Given the description of an element on the screen output the (x, y) to click on. 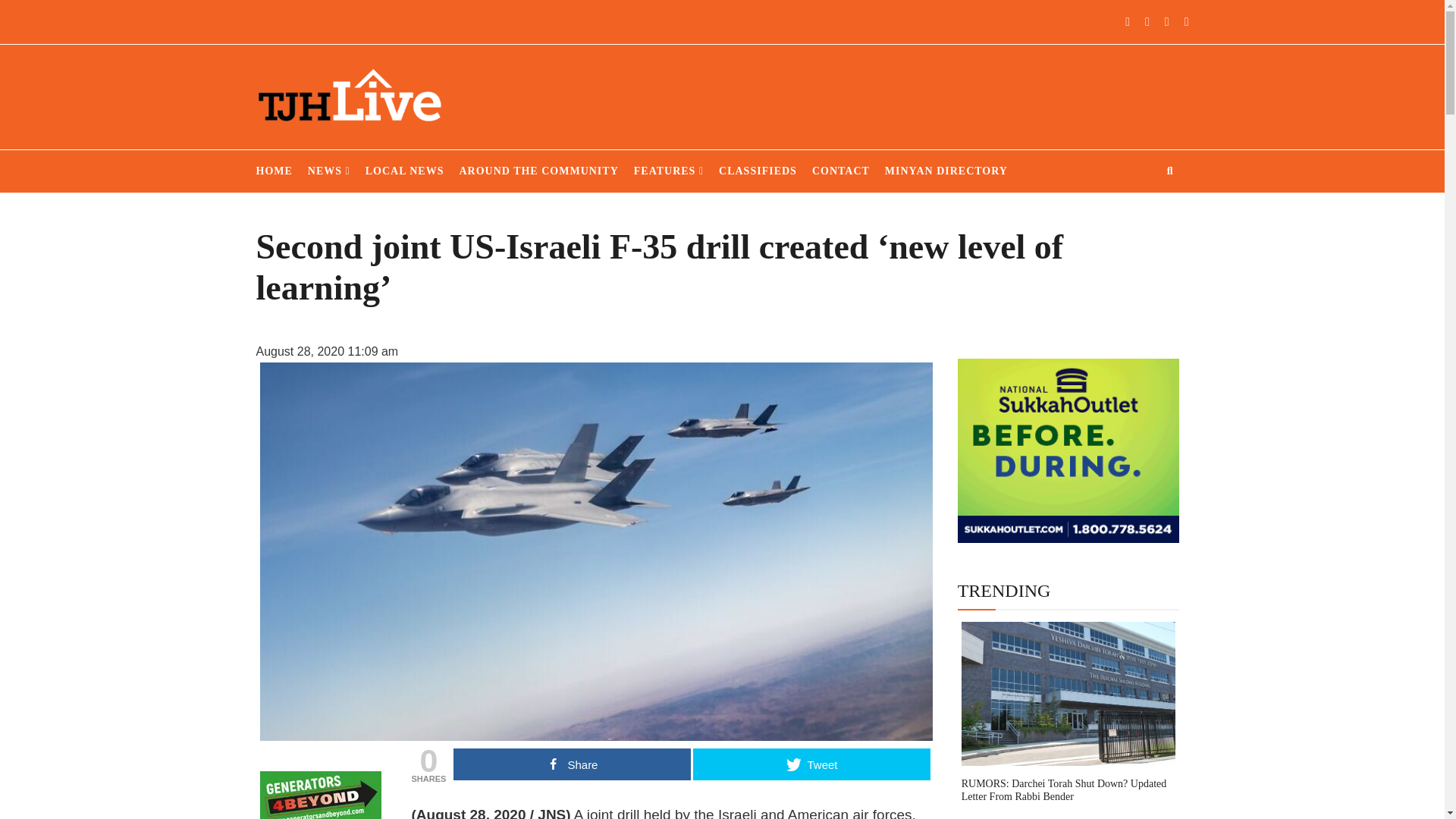
LOCAL NEWS (404, 171)
ion-social-twitter (1159, 21)
ion-social-instagram (1179, 21)
ion-social-facebook (1139, 21)
AROUND THE COMMUNITY (537, 171)
CONTACT (840, 171)
MINYAN DIRECTORY (946, 171)
FEATURES (668, 171)
HOME (274, 171)
NEWS (328, 171)
CLASSIFIEDS (757, 171)
Share (571, 764)
